Given the description of an element on the screen output the (x, y) to click on. 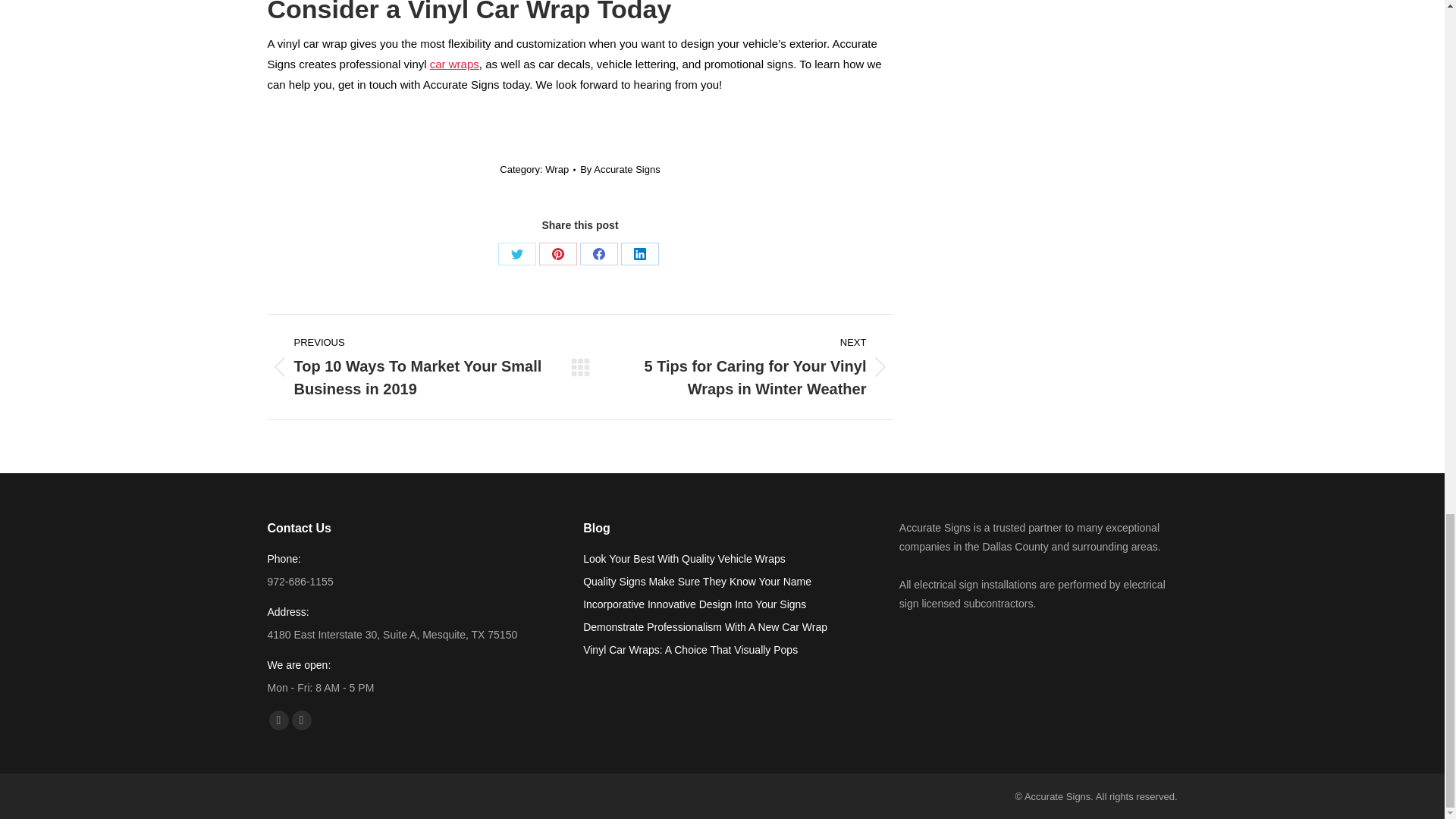
Facebook page opens in new window (277, 720)
LinkedIn (640, 253)
Pinterest (557, 253)
Twitter (516, 253)
View all posts by Accurate Signs (620, 169)
Linkedin page opens in new window (301, 720)
Facebook (598, 253)
